Given the description of an element on the screen output the (x, y) to click on. 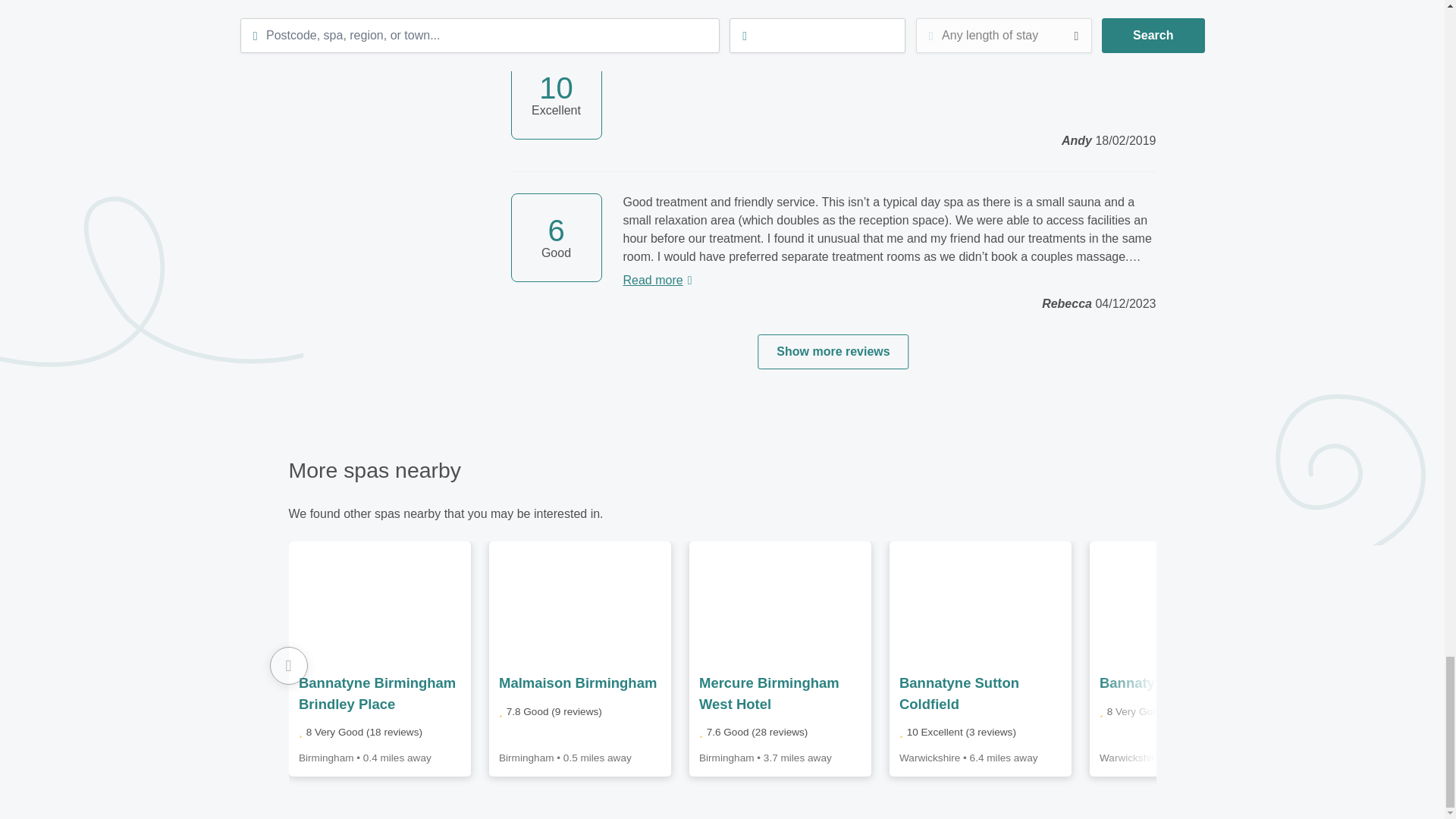
Malmaison Birmingham (577, 682)
Bannatyne Birmingham Brindley Place (376, 692)
Show more reviews (832, 351)
Mercure Birmingham West Hotel (769, 692)
Read more (889, 280)
